Given the description of an element on the screen output the (x, y) to click on. 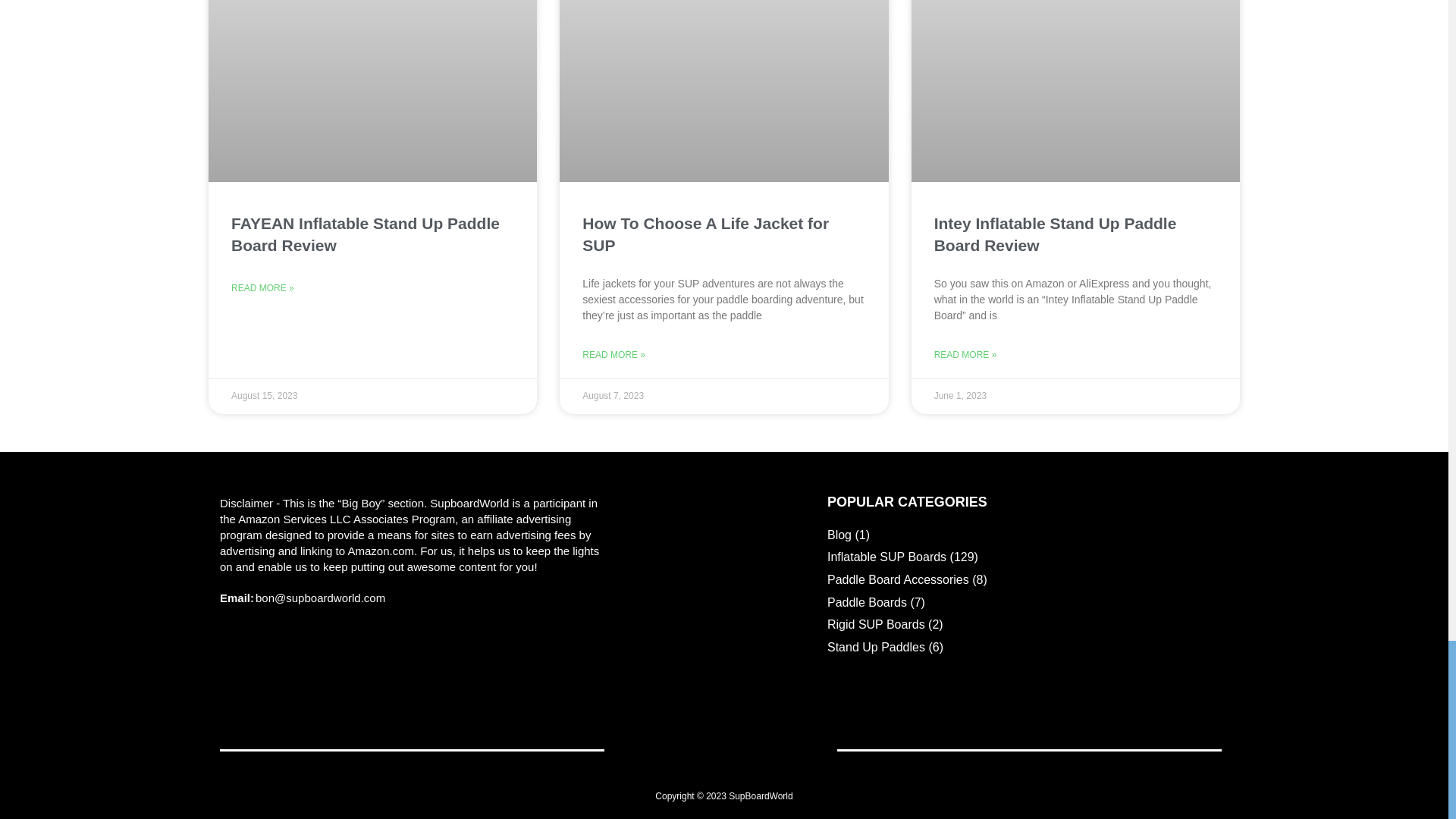
FAYEAN Inflatable Stand Up Paddle Board Review (365, 233)
